Given the description of an element on the screen output the (x, y) to click on. 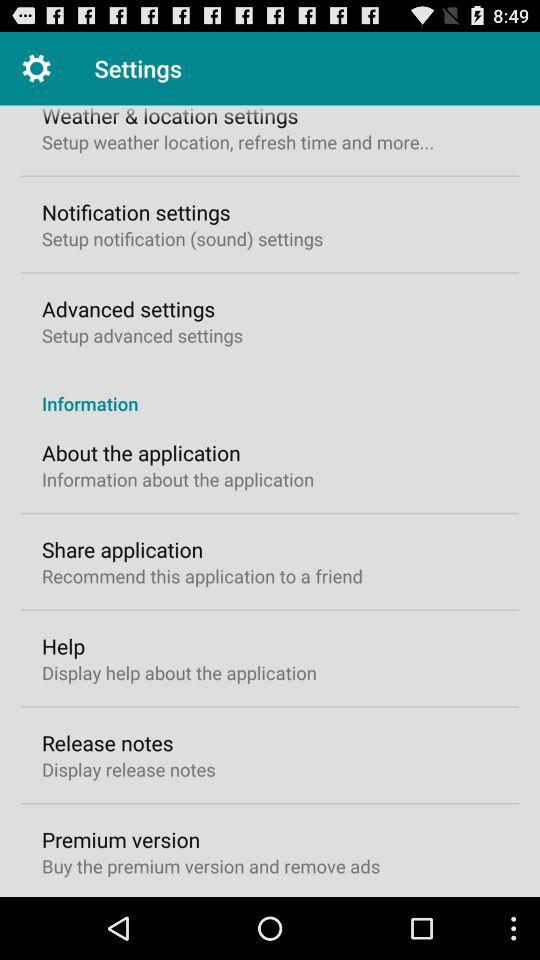
jump until the setup notification sound icon (182, 238)
